Given the description of an element on the screen output the (x, y) to click on. 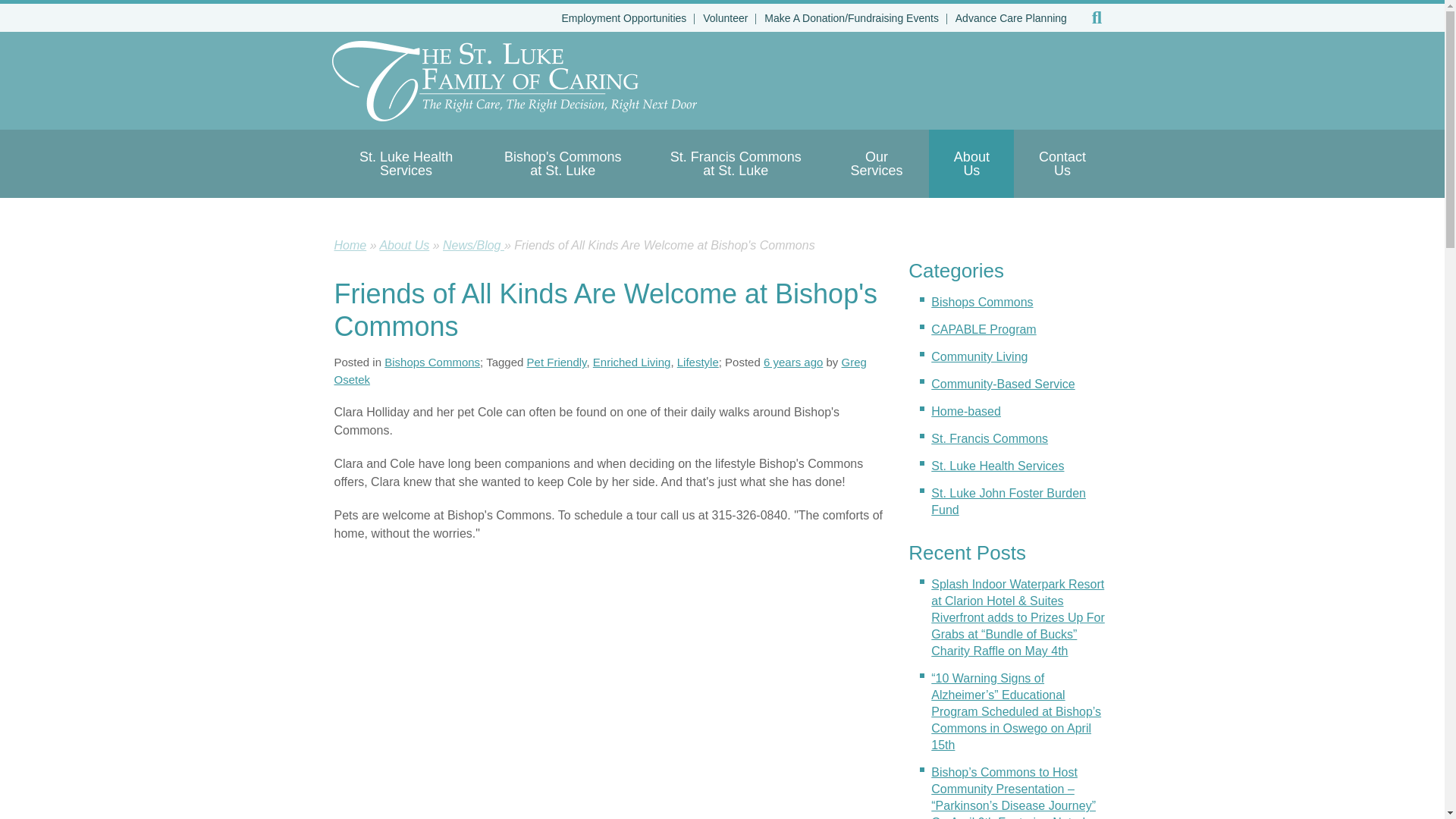
Bishop's Commons at St. Luke (563, 163)
CAPABLE Program (983, 328)
St. Luke Health Services (405, 163)
Employment Opportunities (622, 18)
About Us (970, 163)
St. Francis Commons at St. Luke (735, 163)
Advance Care Planning (1011, 18)
Bishops Commons (981, 301)
Community-Based Service (1002, 383)
St. Luke John Foster Burden Fund (1008, 501)
The St. Luke Family of Caring (514, 80)
St. Francis Commons (989, 438)
Our Services (876, 163)
St. Luke Health Services (997, 465)
Home-based (966, 410)
